Given the description of an element on the screen output the (x, y) to click on. 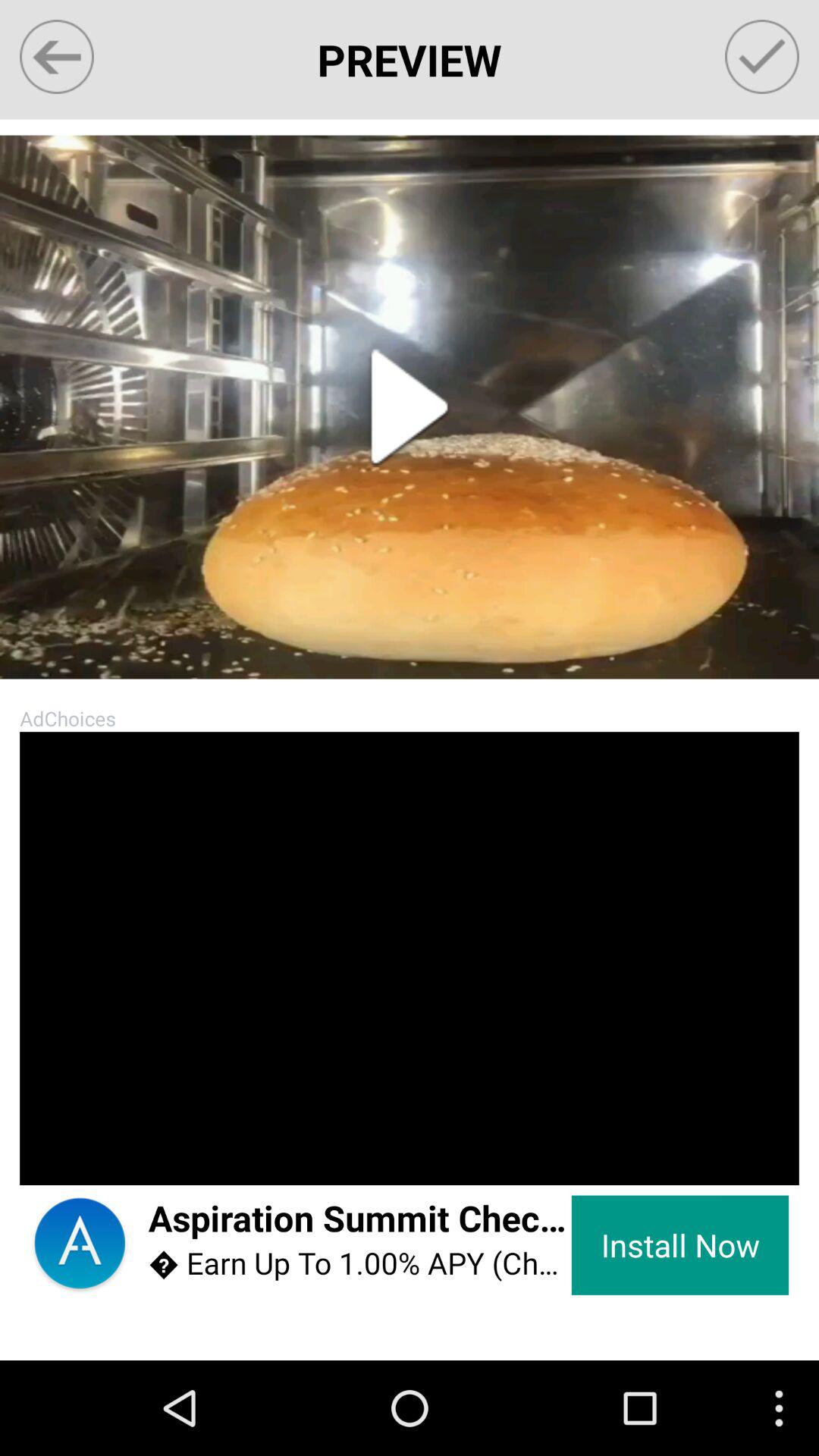
go back button (56, 56)
